Given the description of an element on the screen output the (x, y) to click on. 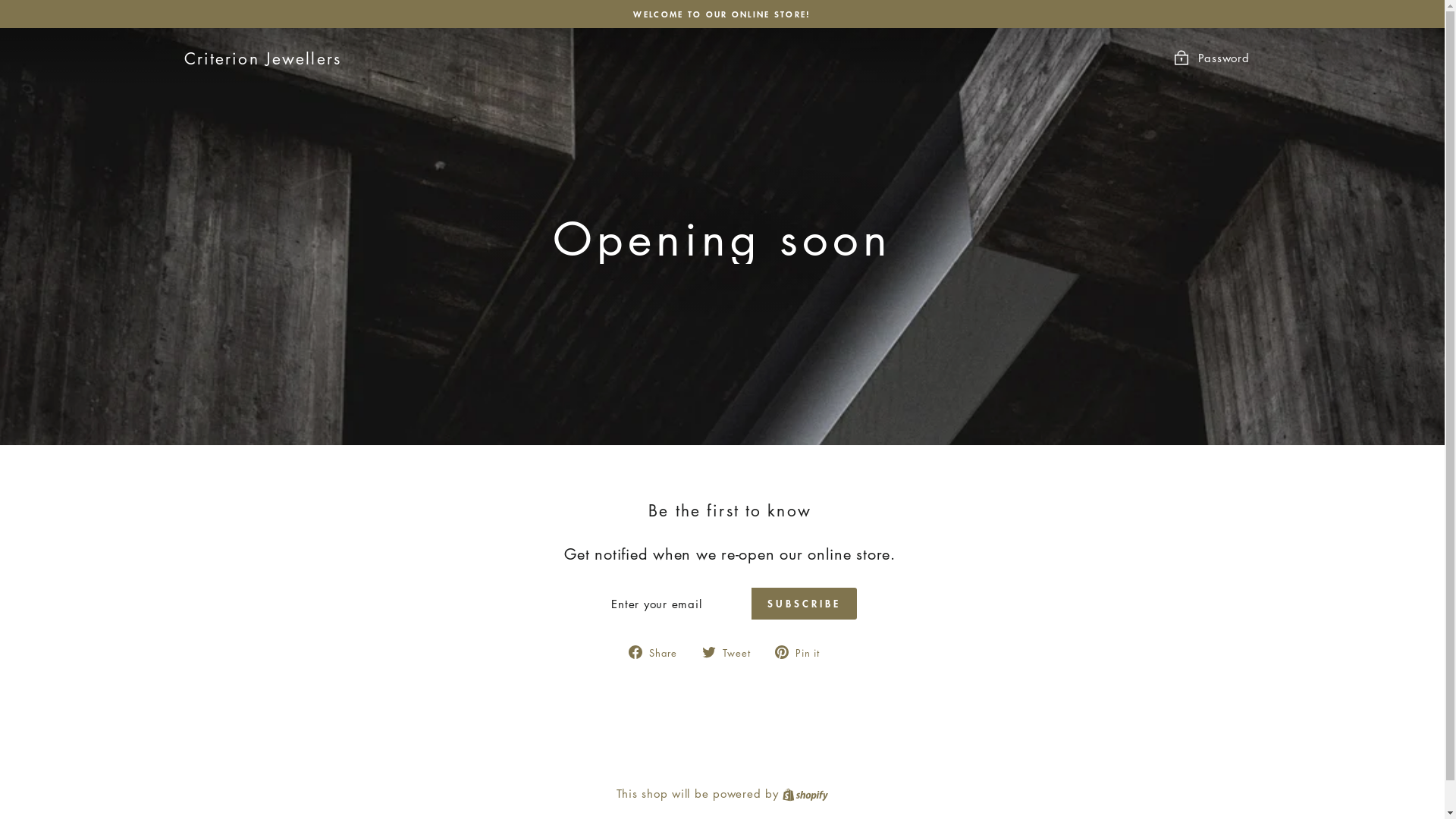
Share
Share on Facebook Element type: text (658, 650)
Password Element type: text (1211, 58)
Pin it
Pin on Pinterest Element type: text (802, 650)
Shopify logo
Shopify Element type: text (805, 792)
twitter Tweet
Tweet on Twitter Element type: text (732, 650)
SUBSCRIBE Element type: text (803, 603)
